Given the description of an element on the screen output the (x, y) to click on. 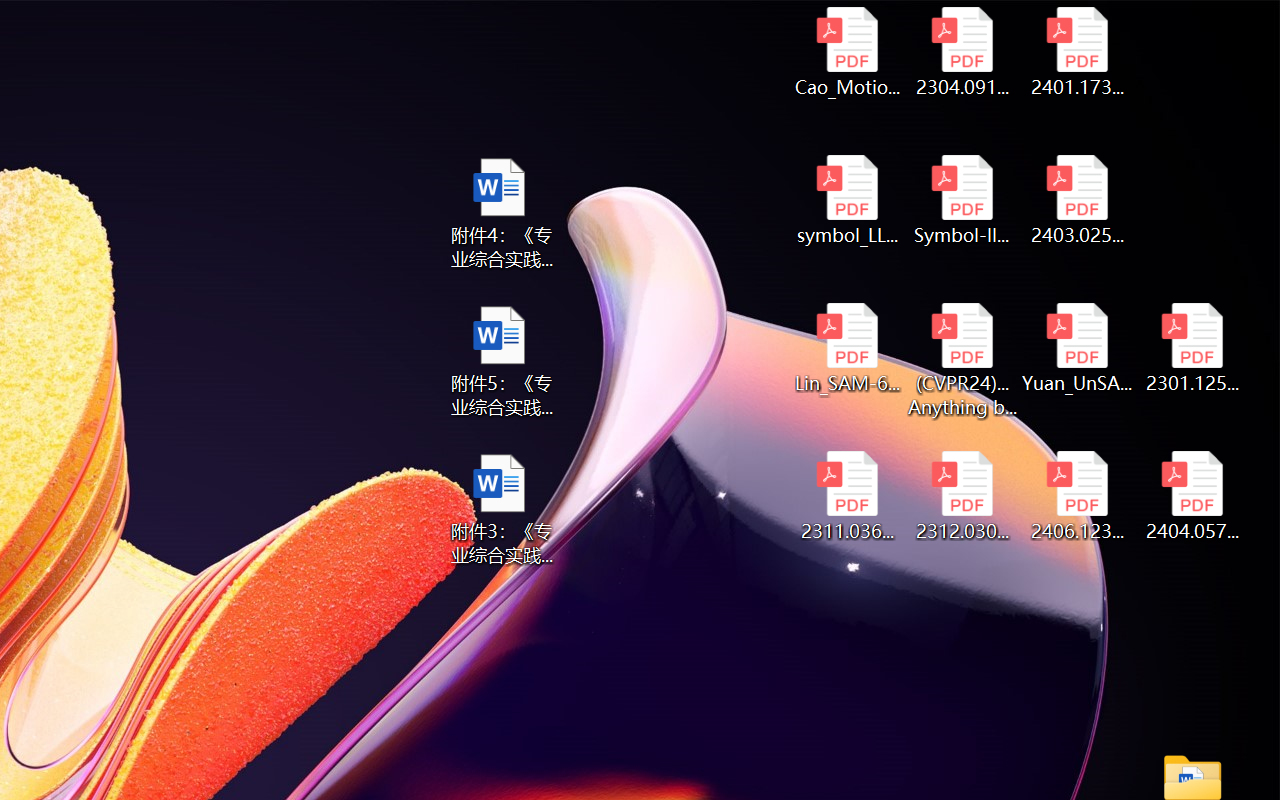
2404.05719v1.pdf (1192, 496)
2406.12373v2.pdf (1077, 496)
2403.02502v1.pdf (1077, 200)
2401.17399v1.pdf (1077, 52)
2301.12597v3.pdf (1192, 348)
2312.03032v2.pdf (962, 496)
Symbol-llm-v2.pdf (962, 200)
symbol_LLM.pdf (846, 200)
2311.03658v2.pdf (846, 496)
